Given the description of an element on the screen output the (x, y) to click on. 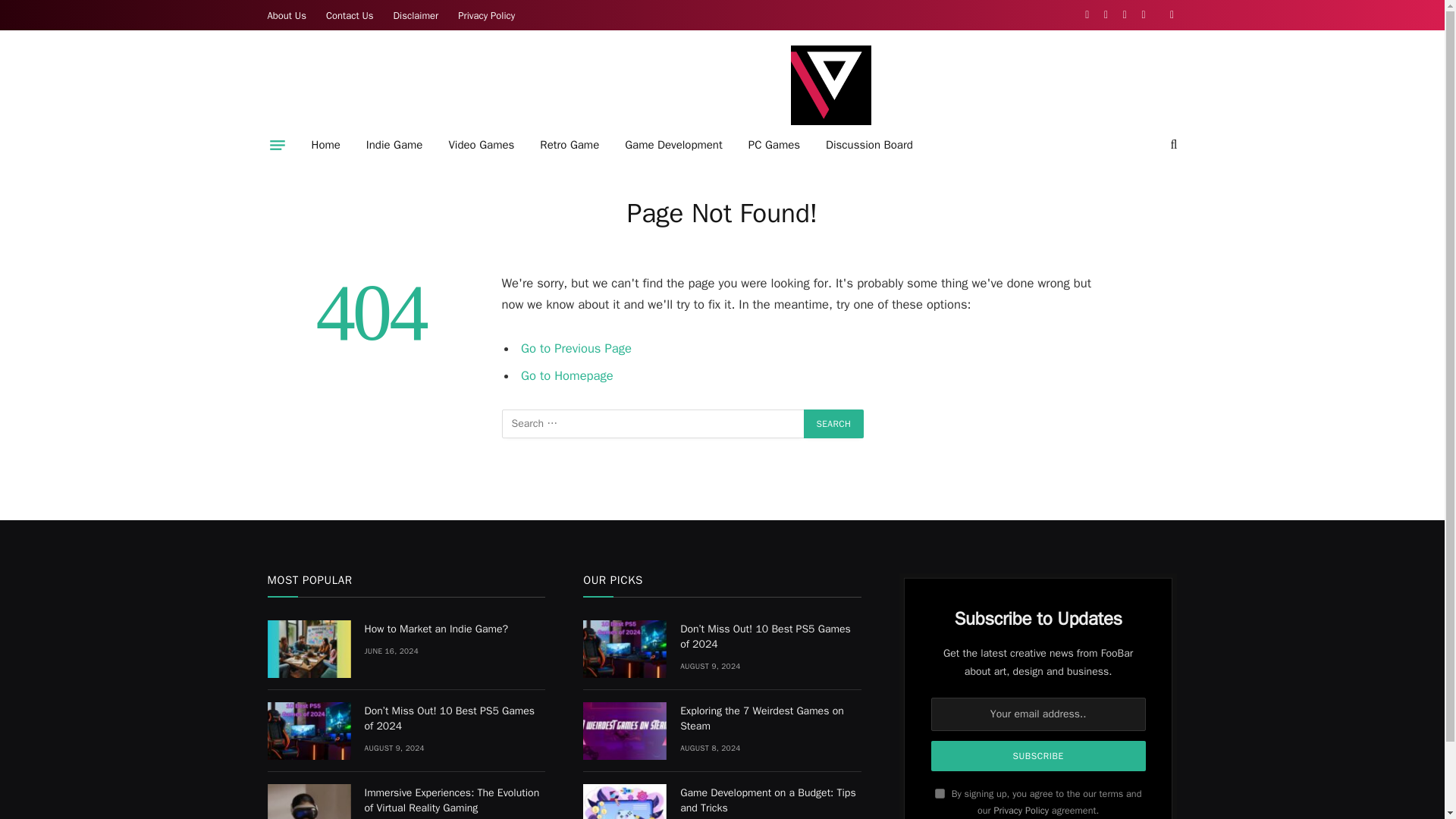
Indie Devchronicles (830, 84)
Indie Game (394, 144)
Discussion Board (869, 144)
Search (833, 423)
Disclaimer (416, 15)
Contact Us (349, 15)
PC Games (773, 144)
Home (325, 144)
Exploring the 7 Weirdest Games on Steam (624, 730)
Privacy Policy (486, 15)
